Given the description of an element on the screen output the (x, y) to click on. 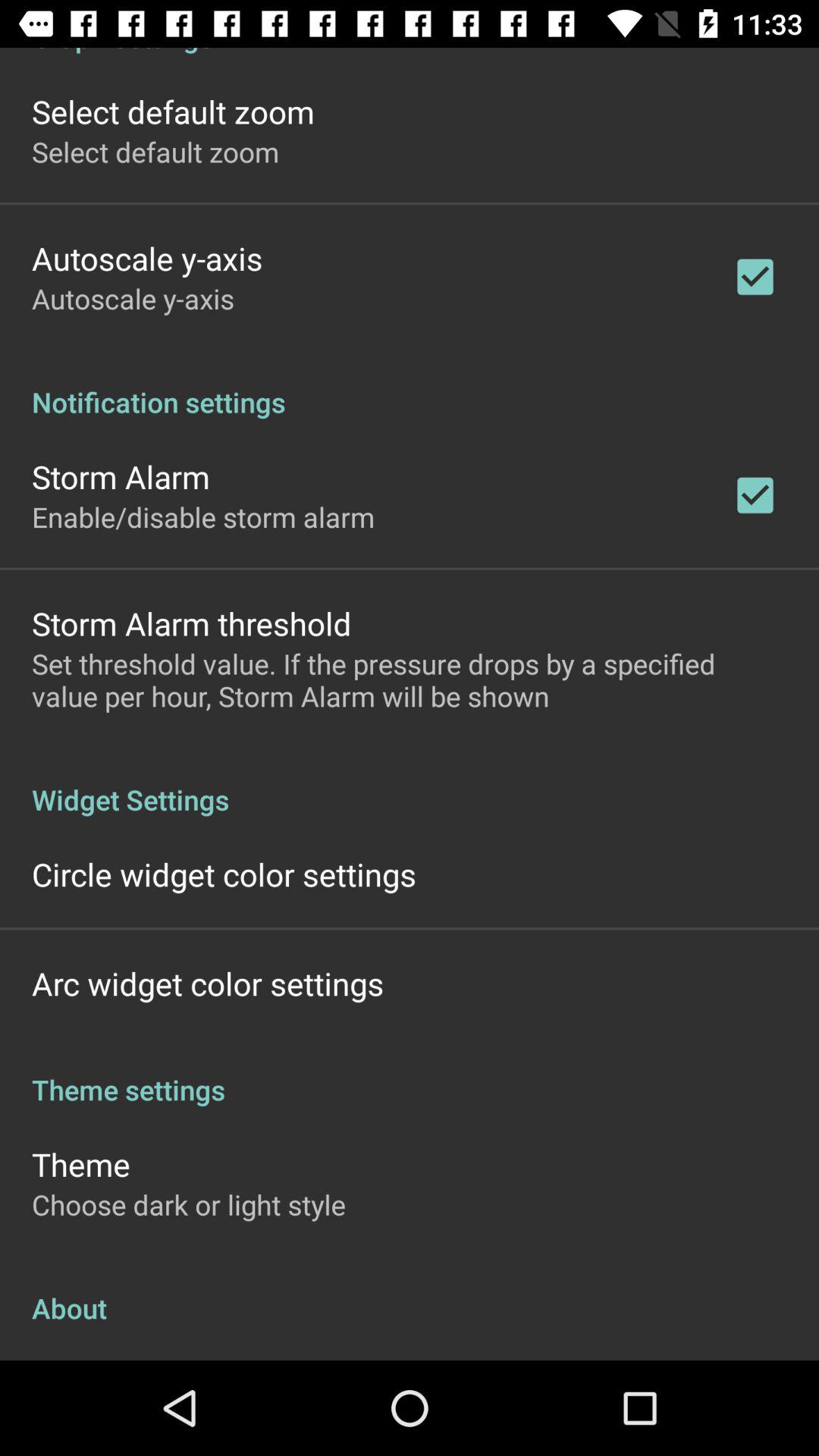
turn on the icon below the arc widget color app (409, 1073)
